Given the description of an element on the screen output the (x, y) to click on. 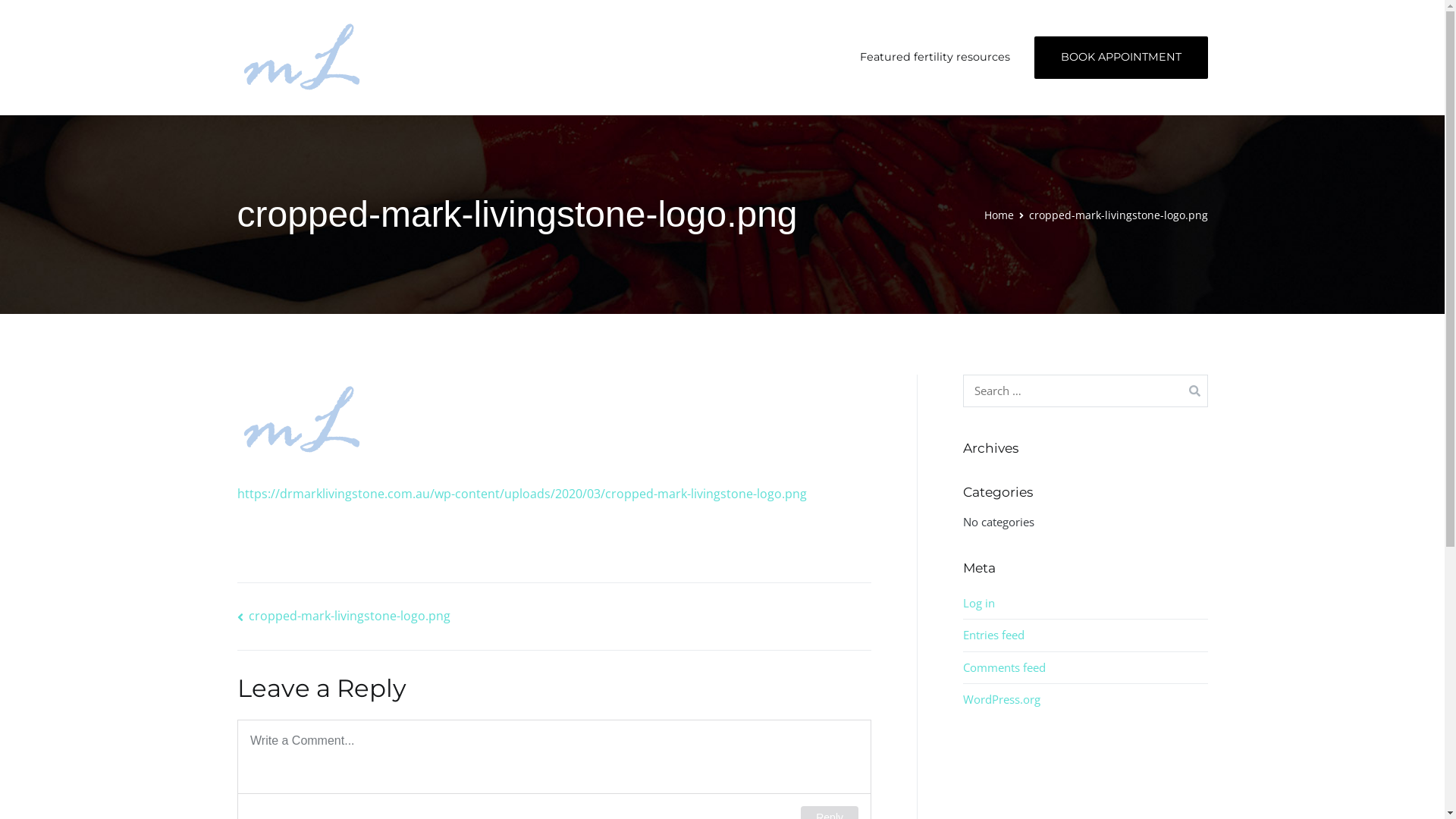
Comments feed Element type: text (1004, 667)
Search Element type: text (28, 15)
Home Element type: text (998, 214)
cropped-mark-livingstone-logo.png Element type: text (342, 615)
Log in Element type: text (978, 602)
Dr Mark Livingstone Element type: text (453, 67)
Featured fertility resources Element type: text (934, 57)
WordPress.org Element type: text (1001, 699)
Entries feed Element type: text (993, 634)
BOOK APPOINTMENT Element type: text (1121, 57)
